Given the description of an element on the screen output the (x, y) to click on. 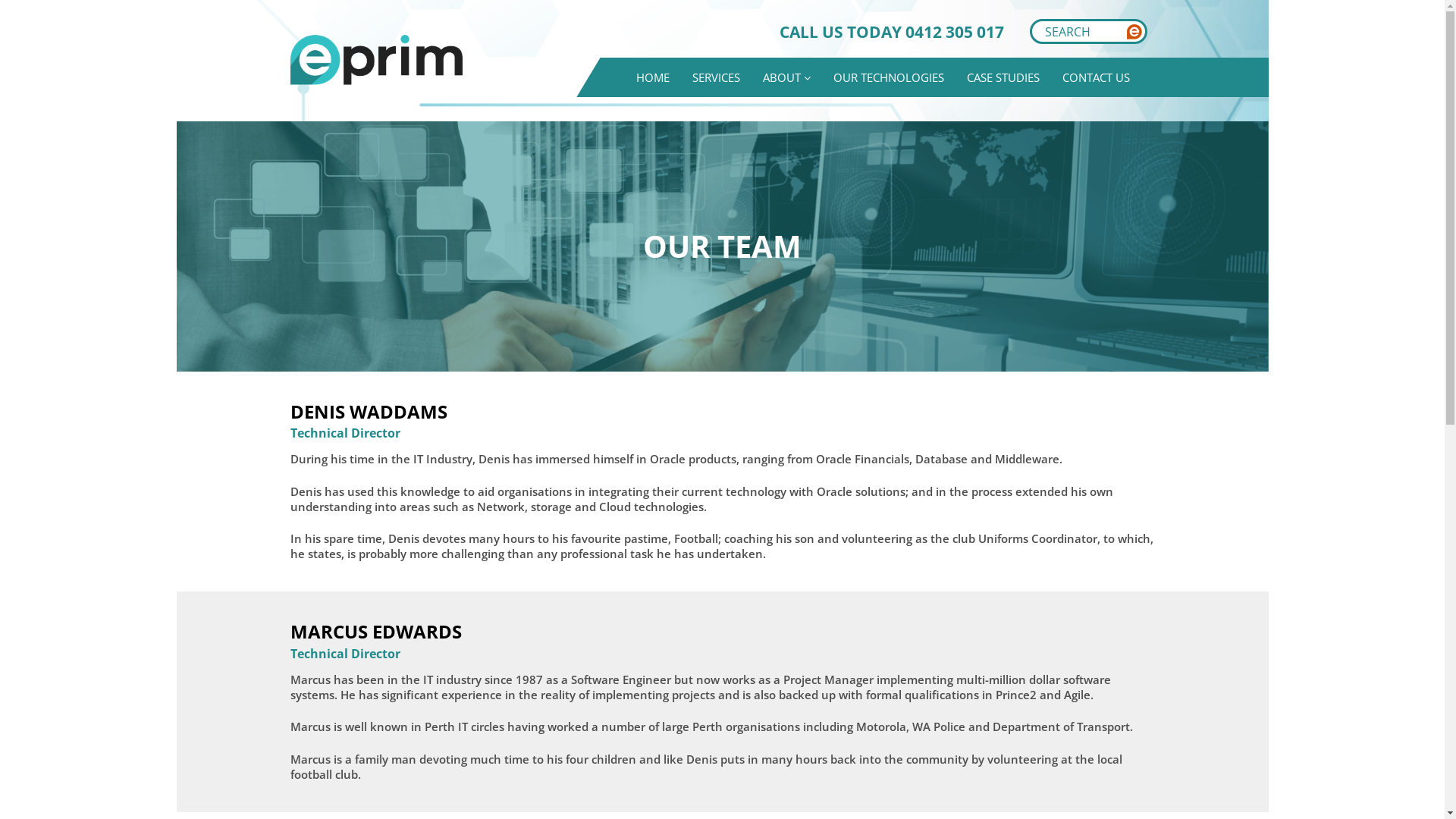
CASE STUDIES Element type: text (1003, 77)
CONTACT US Element type: text (1095, 77)
OUR TECHNOLOGIES Element type: text (888, 77)
HOME Element type: text (652, 77)
ABOUT Element type: text (786, 77)
SERVICES Element type: text (715, 77)
CALL US TODAY 0412 305 017 Element type: text (891, 31)
